Given the description of an element on the screen output the (x, y) to click on. 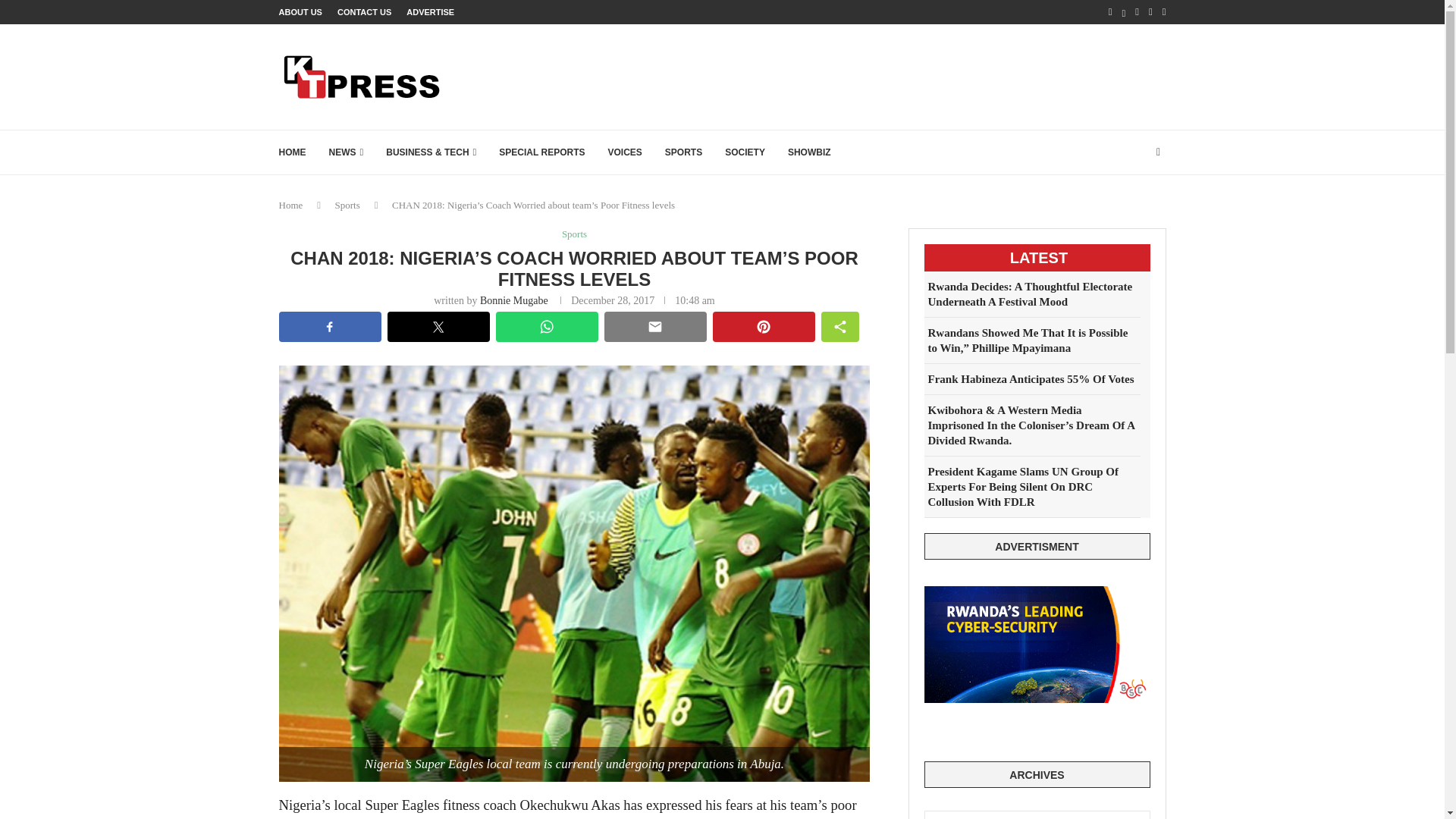
ABOUT US (300, 12)
Bonnie Mugabe (514, 300)
SPECIAL REPORTS (542, 152)
CONTACT US (364, 12)
Home (290, 204)
Sports (574, 234)
SHOWBIZ (809, 152)
ADVERTISE (430, 12)
SOCIETY (745, 152)
Sports (346, 204)
Bonnie Mugabe (514, 300)
